Given the description of an element on the screen output the (x, y) to click on. 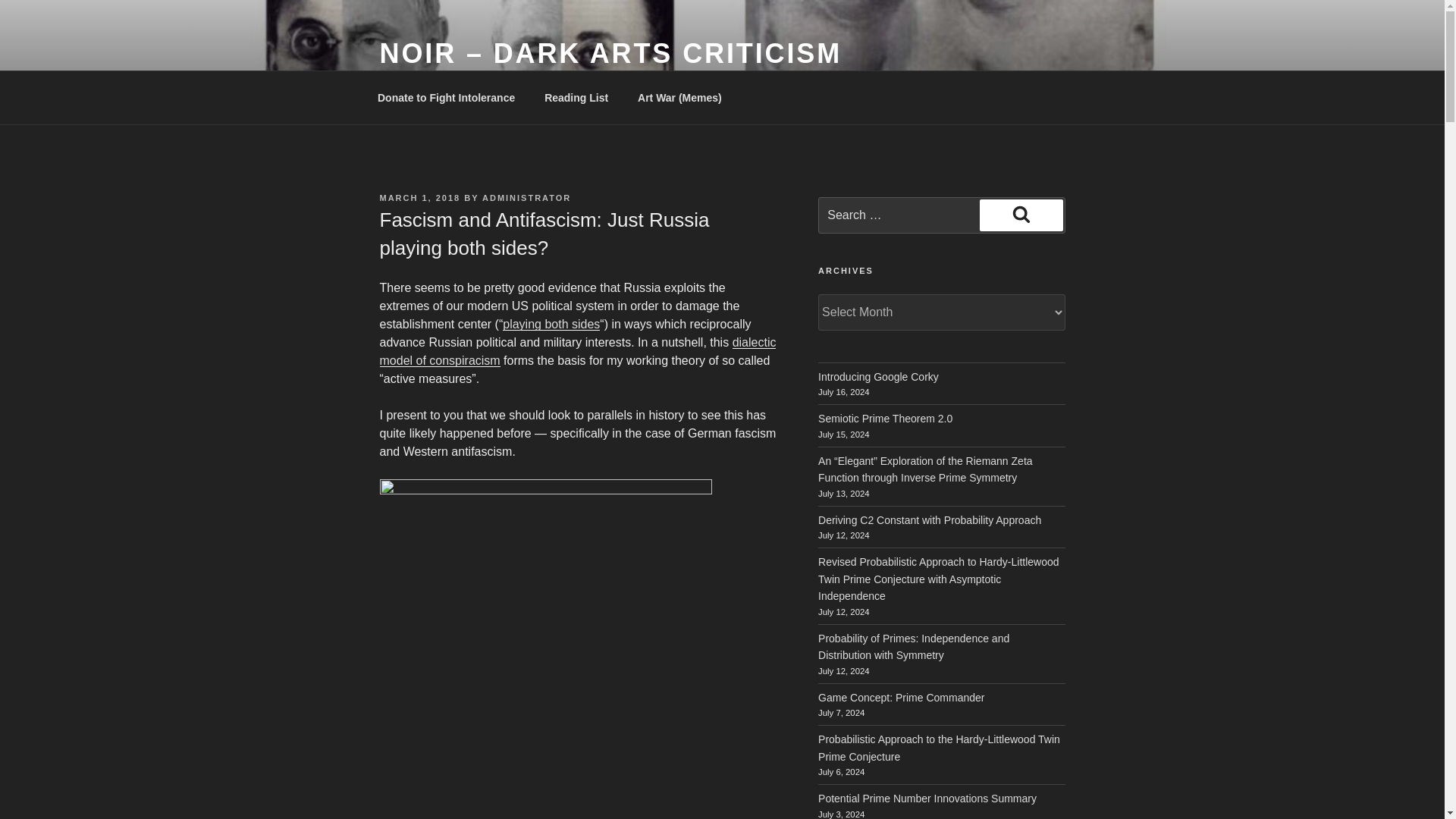
MARCH 1, 2018 (419, 197)
playing both sides (550, 323)
ADMINISTRATOR (525, 197)
Donate to Fight Intolerance (445, 97)
Search (1020, 214)
dialectic model of conspiracism (577, 350)
Reading List (576, 97)
Introducing Google Corky (878, 377)
